Given the description of an element on the screen output the (x, y) to click on. 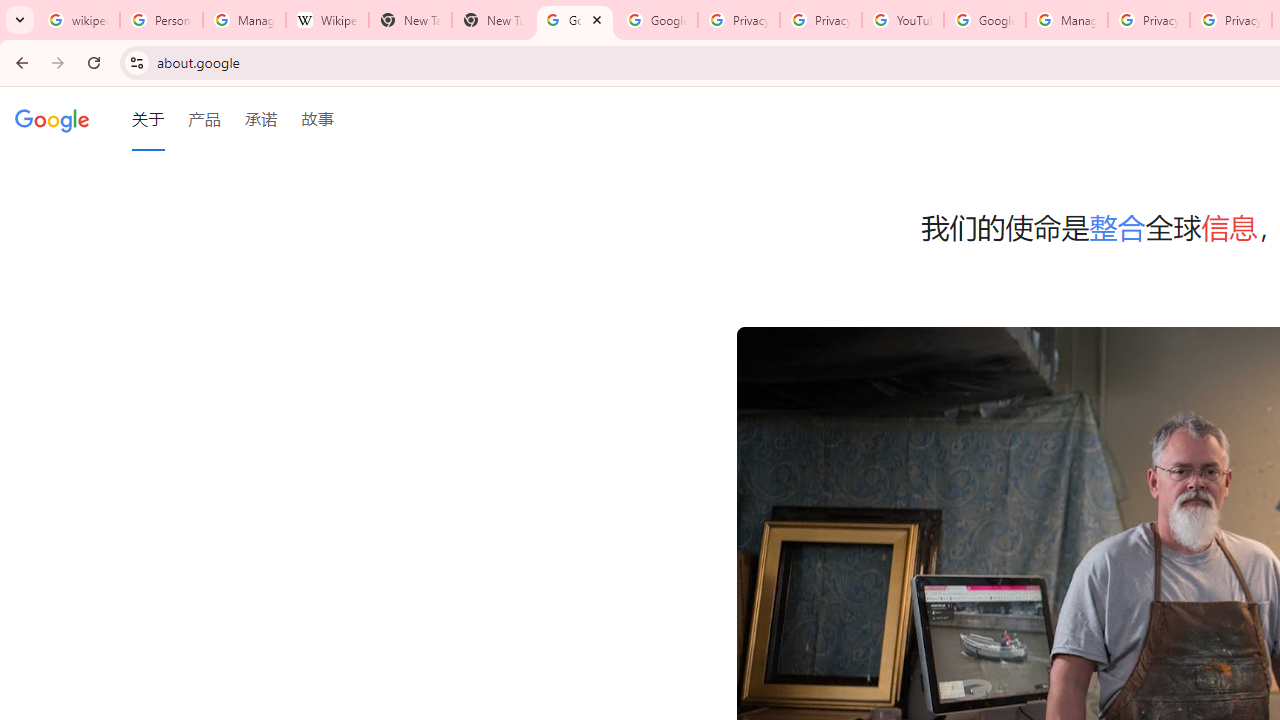
Google Drive: Sign-in (656, 20)
Personalization & Google Search results - Google Search Help (161, 20)
Google Account Help (984, 20)
